Given the description of an element on the screen output the (x, y) to click on. 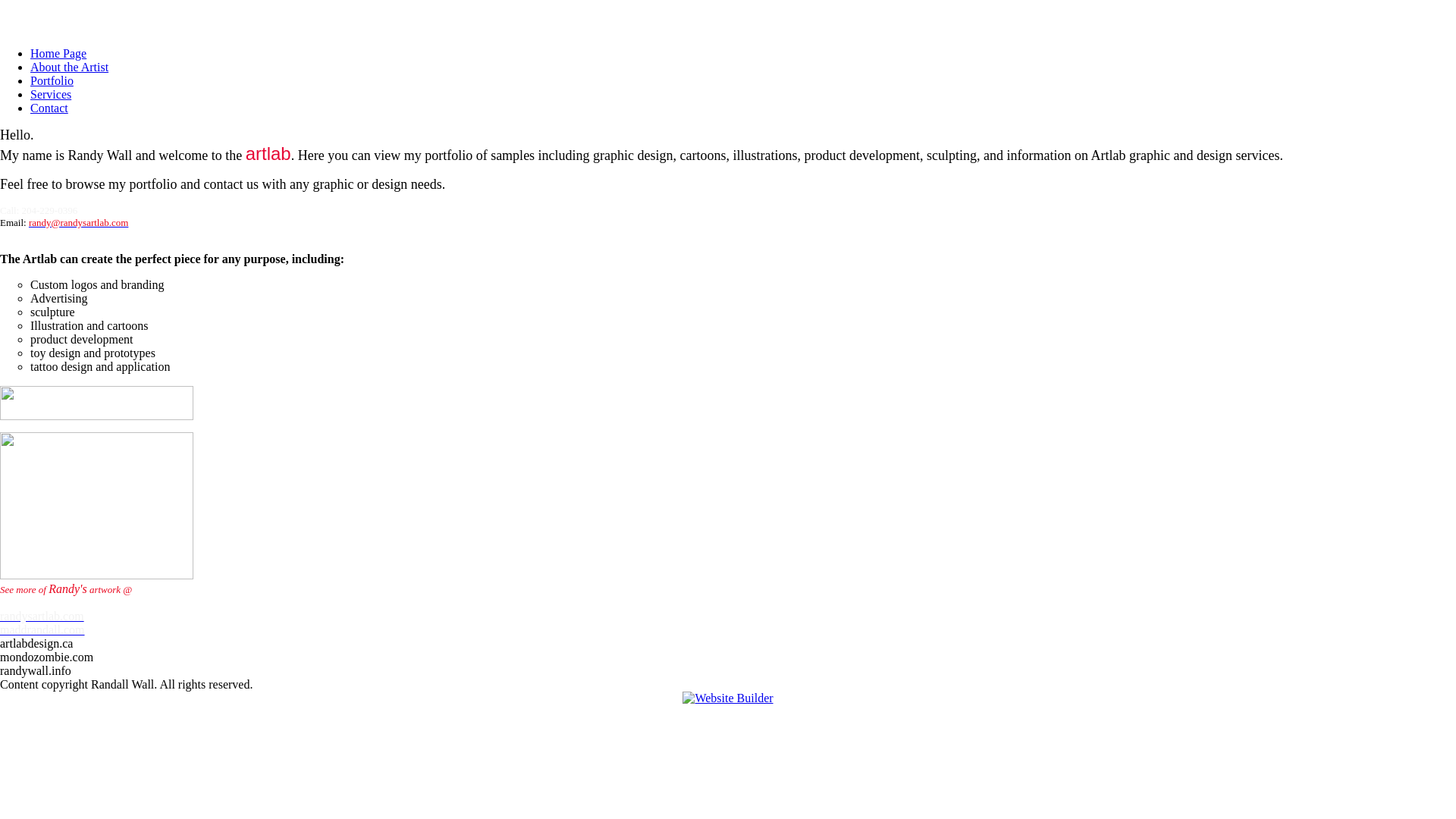
Home Page Element type: text (58, 53)
randy@randysartlab.com Element type: text (78, 221)
maddrandall.com Element type: text (42, 629)
Contact Element type: text (49, 107)
About the Artist Element type: text (69, 66)
Portfolio Element type: text (51, 80)
Website Builder Element type: hover (727, 698)
randysartlab.com Element type: text (42, 615)
Services Element type: text (50, 93)
